Given the description of an element on the screen output the (x, y) to click on. 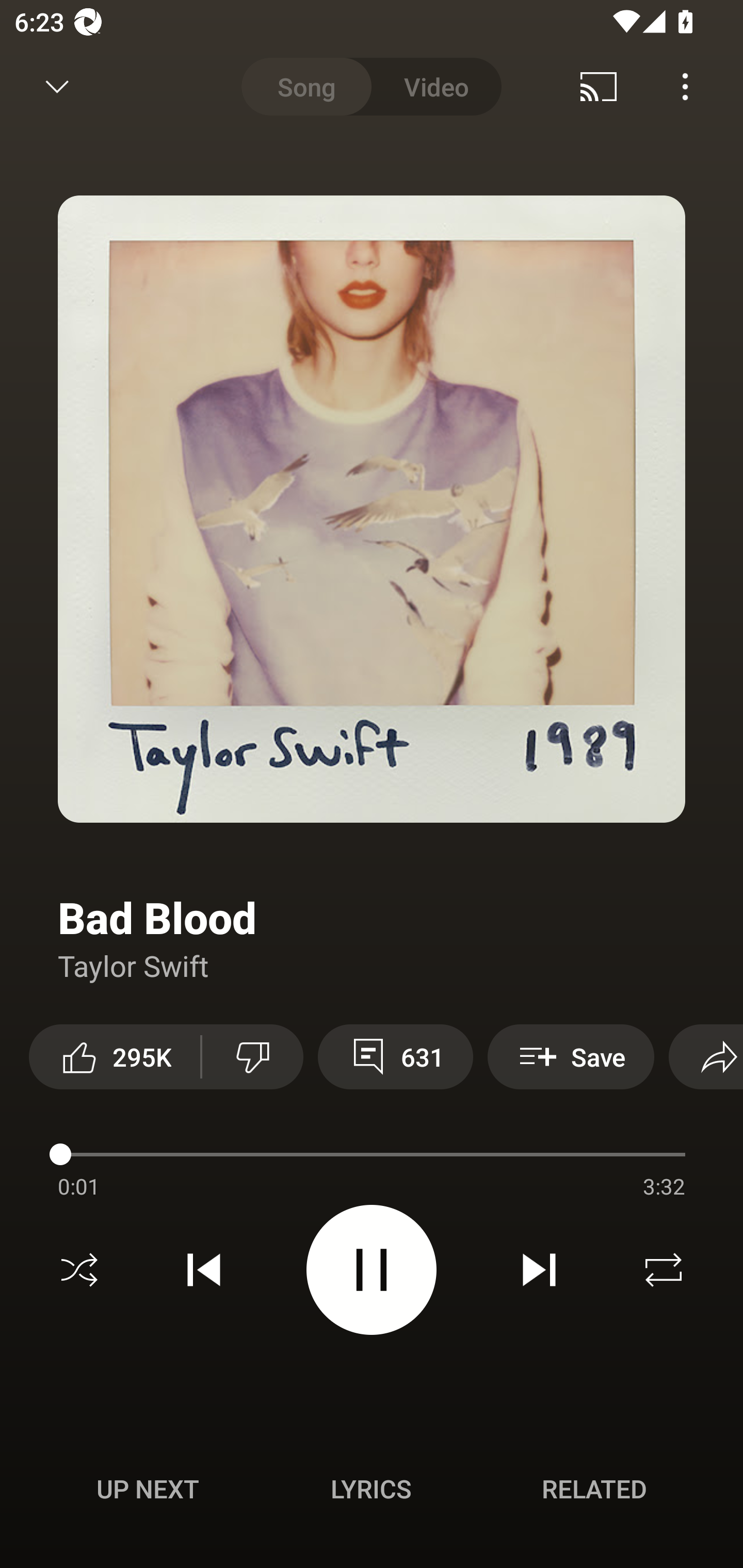
Minimize (57, 86)
Cast. Disconnected (598, 86)
Menu (684, 86)
Dislike (252, 1056)
631 View 631 comments (395, 1056)
Save Save to playlist (570, 1056)
Share (705, 1056)
Pause video (371, 1269)
Shuffle off (79, 1269)
Previous track (203, 1269)
Next track (538, 1269)
Repeat off (663, 1269)
Up next UP NEXT Lyrics LYRICS Related RELATED (371, 1491)
Lyrics LYRICS (370, 1488)
Related RELATED (594, 1488)
